Given the description of an element on the screen output the (x, y) to click on. 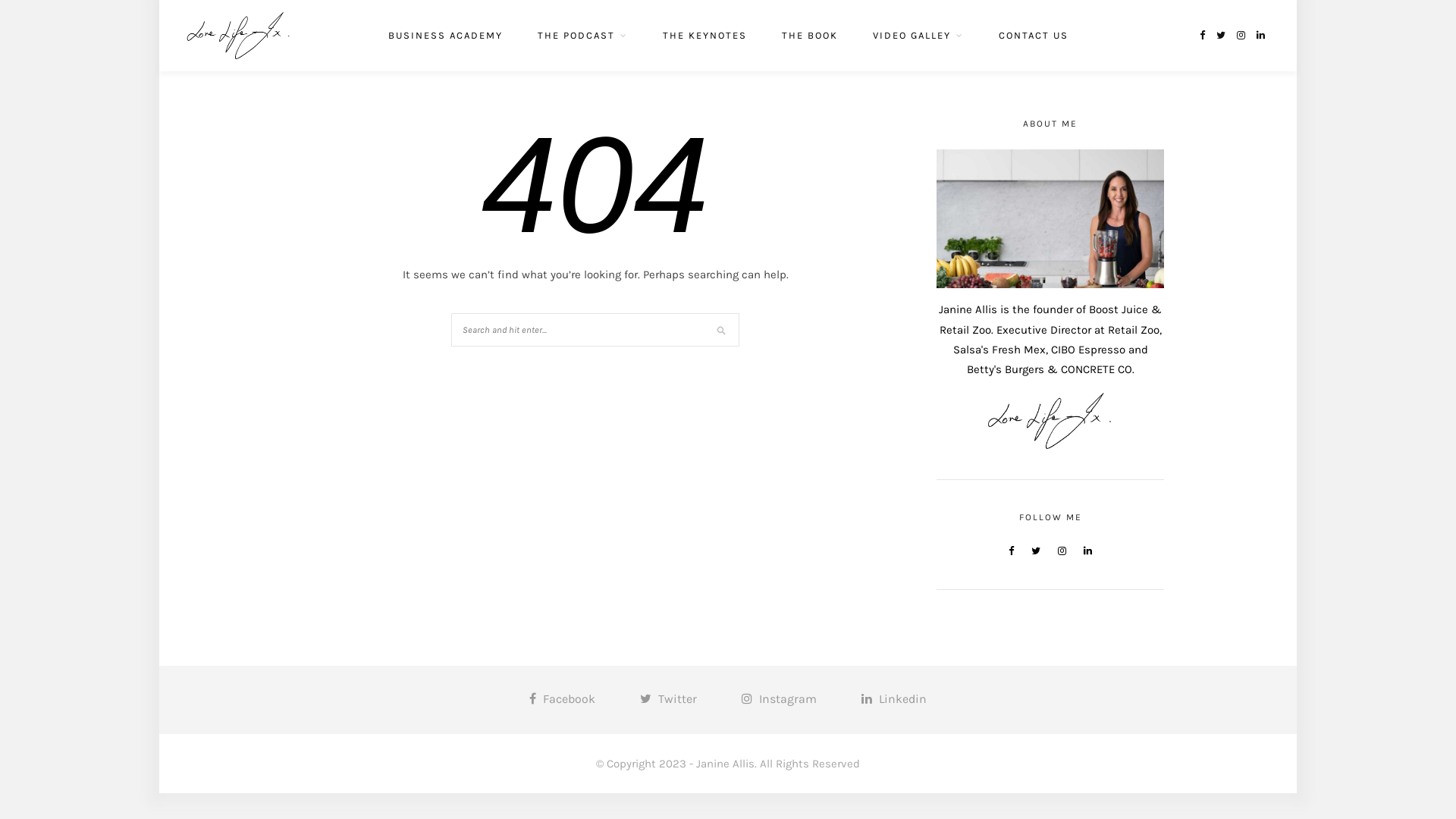
THE BOOK Element type: text (809, 35)
THE KEYNOTES Element type: text (704, 35)
Twitter Element type: text (668, 698)
Linkedin Element type: text (893, 698)
Instagram Element type: text (778, 698)
BUSINESS ACADEMY Element type: text (445, 35)
VIDEO GALLEY Element type: text (917, 35)
Facebook Element type: text (562, 698)
CONTACT US Element type: text (1032, 35)
THE PODCAST Element type: text (581, 35)
